Given the description of an element on the screen output the (x, y) to click on. 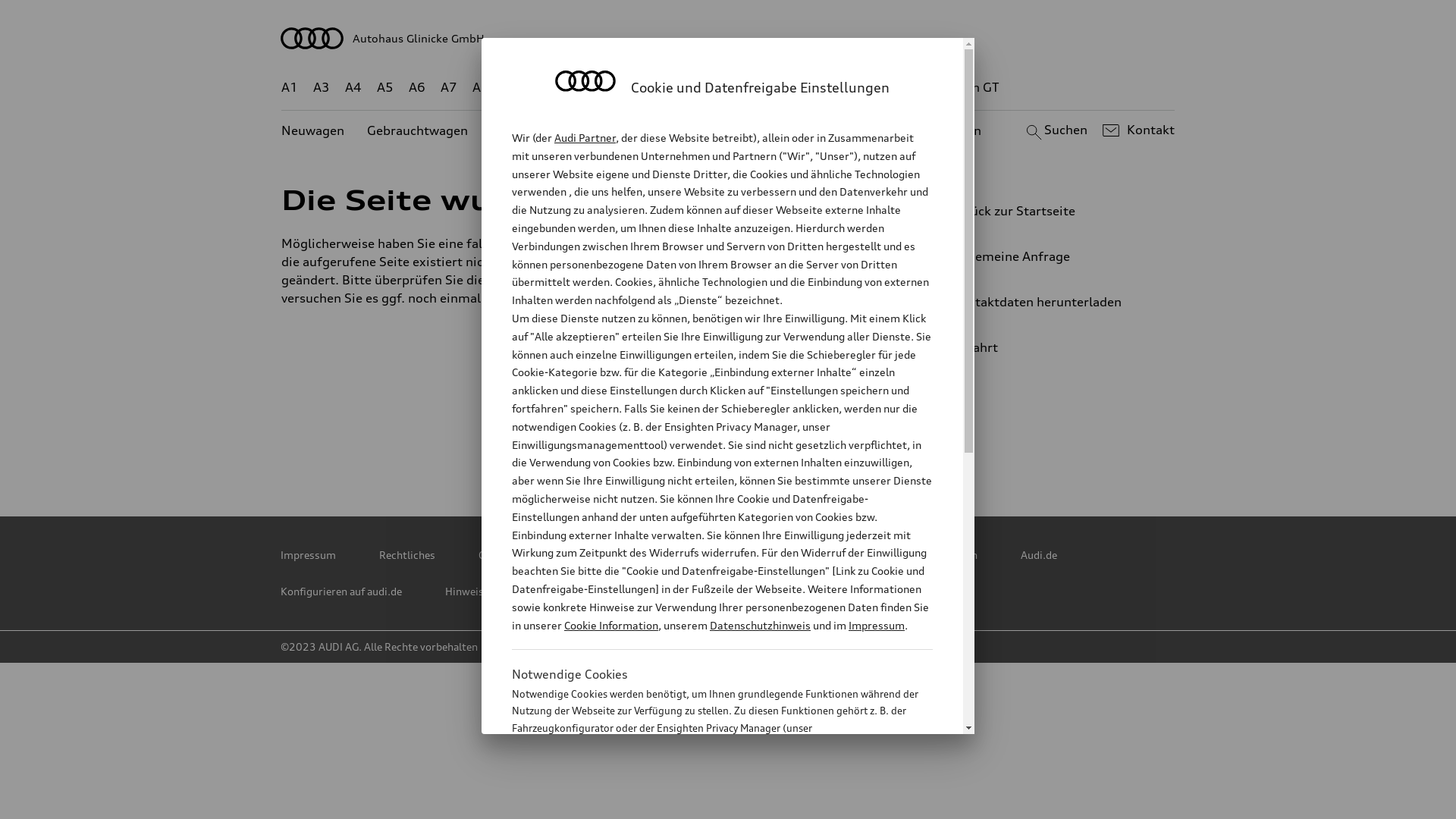
Q4 e-tron Element type: text (598, 87)
Autohaus Glinicke GmbH Element type: text (727, 38)
Kundenservice Element type: text (736, 130)
A1 Element type: text (289, 87)
Konfigurieren auf audi.de Element type: text (340, 591)
TT Element type: text (820, 87)
A7 Element type: text (448, 87)
A5 Element type: text (384, 87)
Cookie Policy Element type: text (711, 554)
Q2 Element type: text (512, 87)
Q7 Element type: text (683, 87)
Datenschutzhinweis Element type: text (759, 624)
e-tron GT Element type: text (970, 87)
Q5 Element type: text (650, 87)
RS Element type: text (866, 87)
Q8 e-tron Element type: text (768, 87)
Kontaktdaten herunterladen Element type: text (1043, 301)
A6 Element type: text (416, 87)
A3 Element type: text (321, 87)
Impressum Element type: text (307, 554)
Angebote Element type: text (641, 130)
Kontakt Element type: text (1135, 130)
Cookie und Datenfreigabe Einstellungen Element type: text (881, 554)
Suchen Element type: text (1054, 130)
Cookie Information Element type: text (611, 624)
A8 Element type: text (480, 87)
Copyright & Haftungsausschluss Element type: text (557, 554)
Neuwagen Element type: text (312, 130)
Allgemeine Anfrage Element type: text (1043, 256)
Audi.de Element type: text (1038, 554)
Rechtliches Element type: text (407, 554)
Cookie Information Element type: text (705, 802)
Q8 Element type: text (715, 87)
g-tron Element type: text (908, 87)
Audi Partner Element type: text (584, 137)
Hinweisgebersystem Element type: text (495, 591)
Impressum Element type: text (876, 624)
Anfahrt Element type: text (1049, 347)
Facebook Element type: hover (730, 444)
Q3 Element type: text (545, 87)
A4 Element type: text (353, 87)
Gebrauchtwagen Element type: text (417, 130)
